Given the description of an element on the screen output the (x, y) to click on. 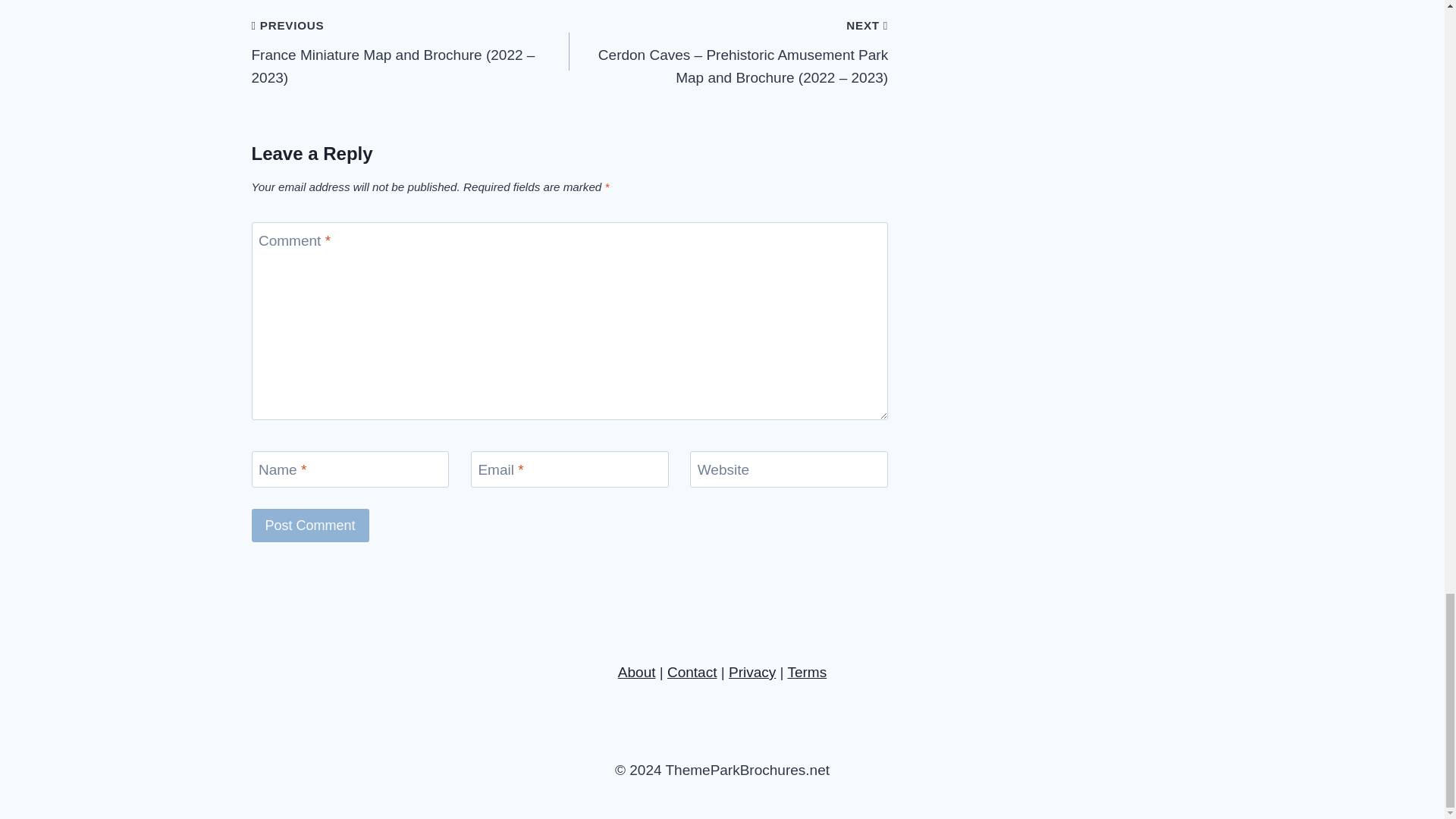
Post Comment (310, 524)
About (636, 672)
Terms (807, 672)
Privacy (752, 672)
Contact (691, 672)
Post Comment (310, 524)
